Given the description of an element on the screen output the (x, y) to click on. 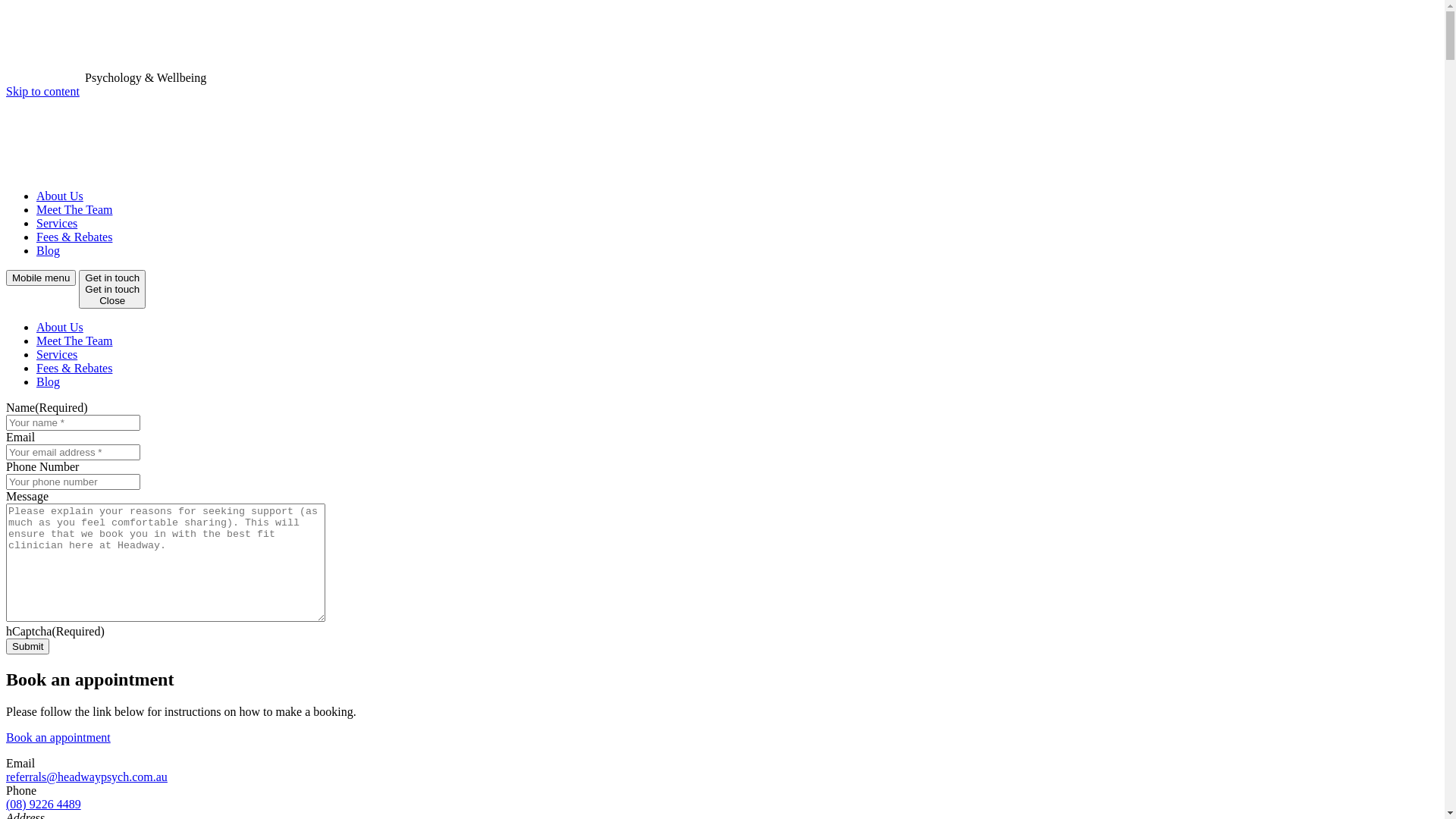
Blog Element type: text (47, 381)
About Us Element type: text (59, 326)
Fees & Rebates Element type: text (74, 236)
Mobile menu Element type: text (40, 277)
Meet The Team Element type: text (74, 209)
referrals@headwaypsych.com.au Element type: text (86, 776)
Submit Element type: text (27, 646)
Book an appointment Element type: text (58, 737)
About Us Element type: text (59, 195)
Get in touch
Get in touch
Close Element type: text (111, 288)
Meet The Team Element type: text (74, 340)
Fees & Rebates Element type: text (74, 367)
Services Element type: text (56, 222)
Blog Element type: text (47, 250)
Services Element type: text (56, 354)
(08) 9226 4489 Element type: text (43, 803)
Headway Psychology Element type: hover (43, 169)
Skip to content Element type: text (42, 90)
